Given the description of an element on the screen output the (x, y) to click on. 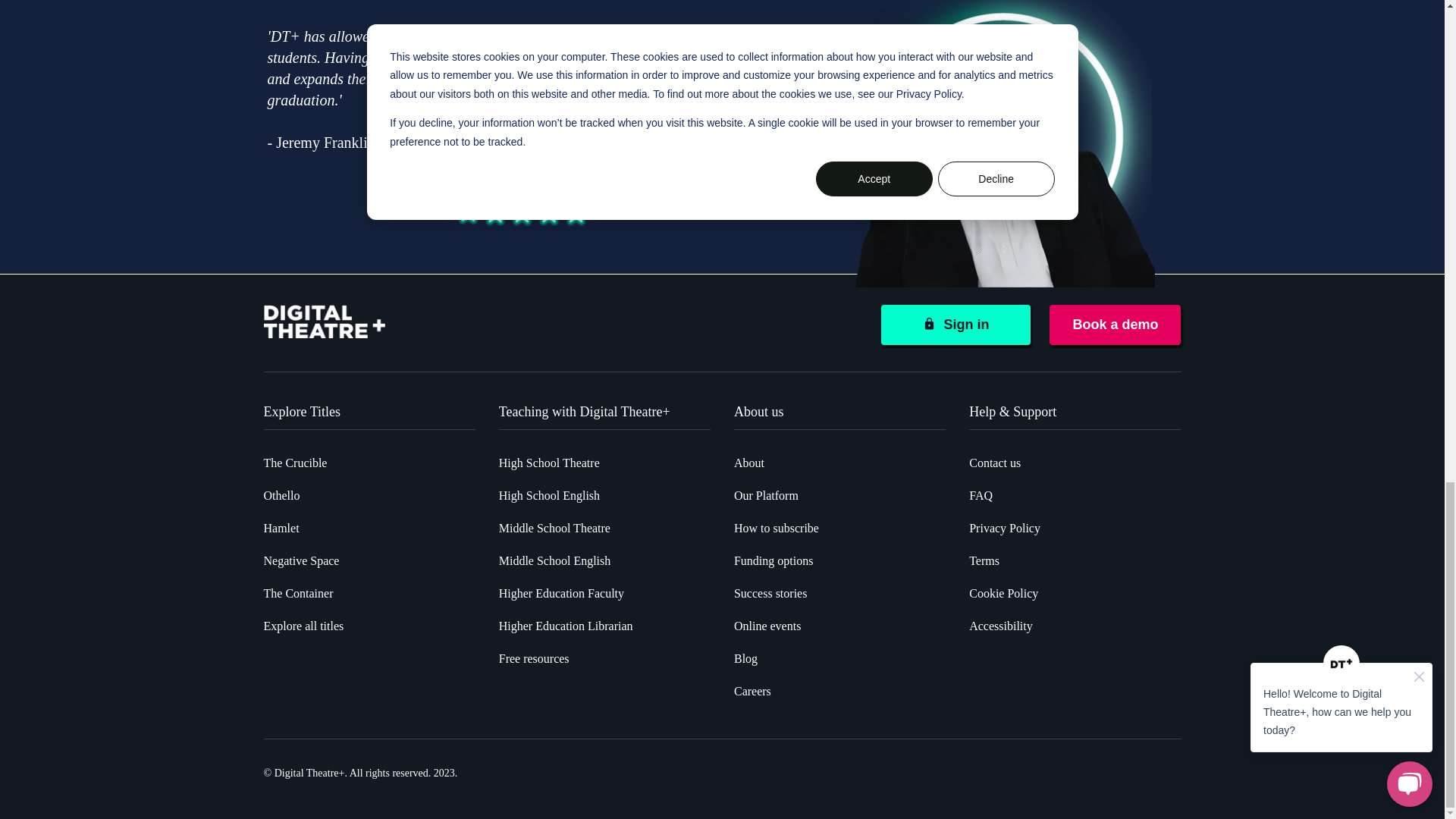
Digital Theatre Plus (324, 321)
5 stars (520, 212)
Jeremy Franklin (1002, 143)
Book a demo (1114, 324)
